Given the description of an element on the screen output the (x, y) to click on. 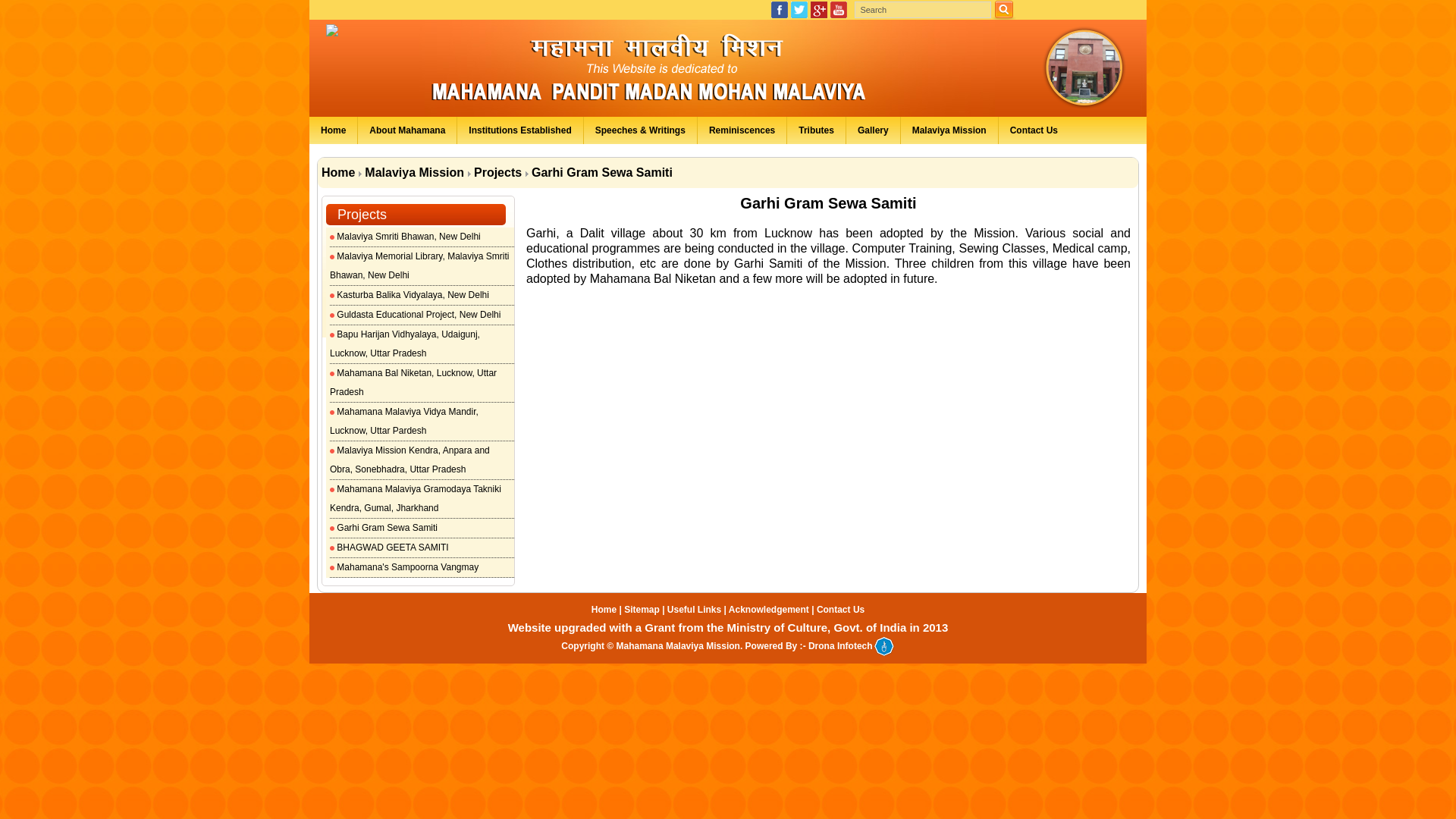
About Mahamana (407, 130)
Reminiscences (742, 130)
Tributes (816, 130)
Malaviya Mission (949, 130)
Institutions Established (520, 130)
Gallery (873, 130)
 Search (922, 9)
Home (333, 130)
